Given the description of an element on the screen output the (x, y) to click on. 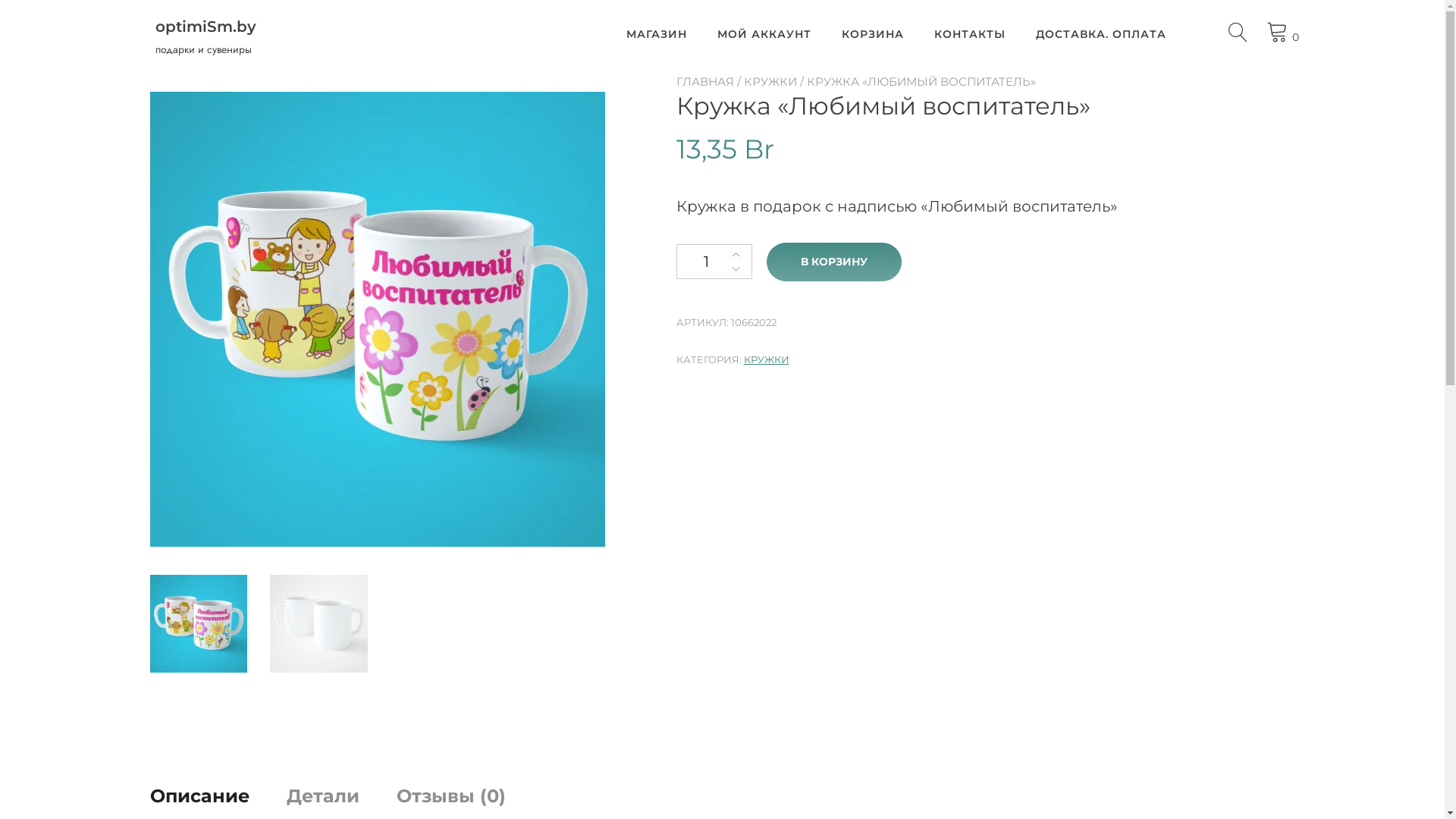
optimiSm.by Element type: text (236, 26)
10662022_1 Element type: hover (377, 318)
0 Element type: text (1283, 31)
